Given the description of an element on the screen output the (x, y) to click on. 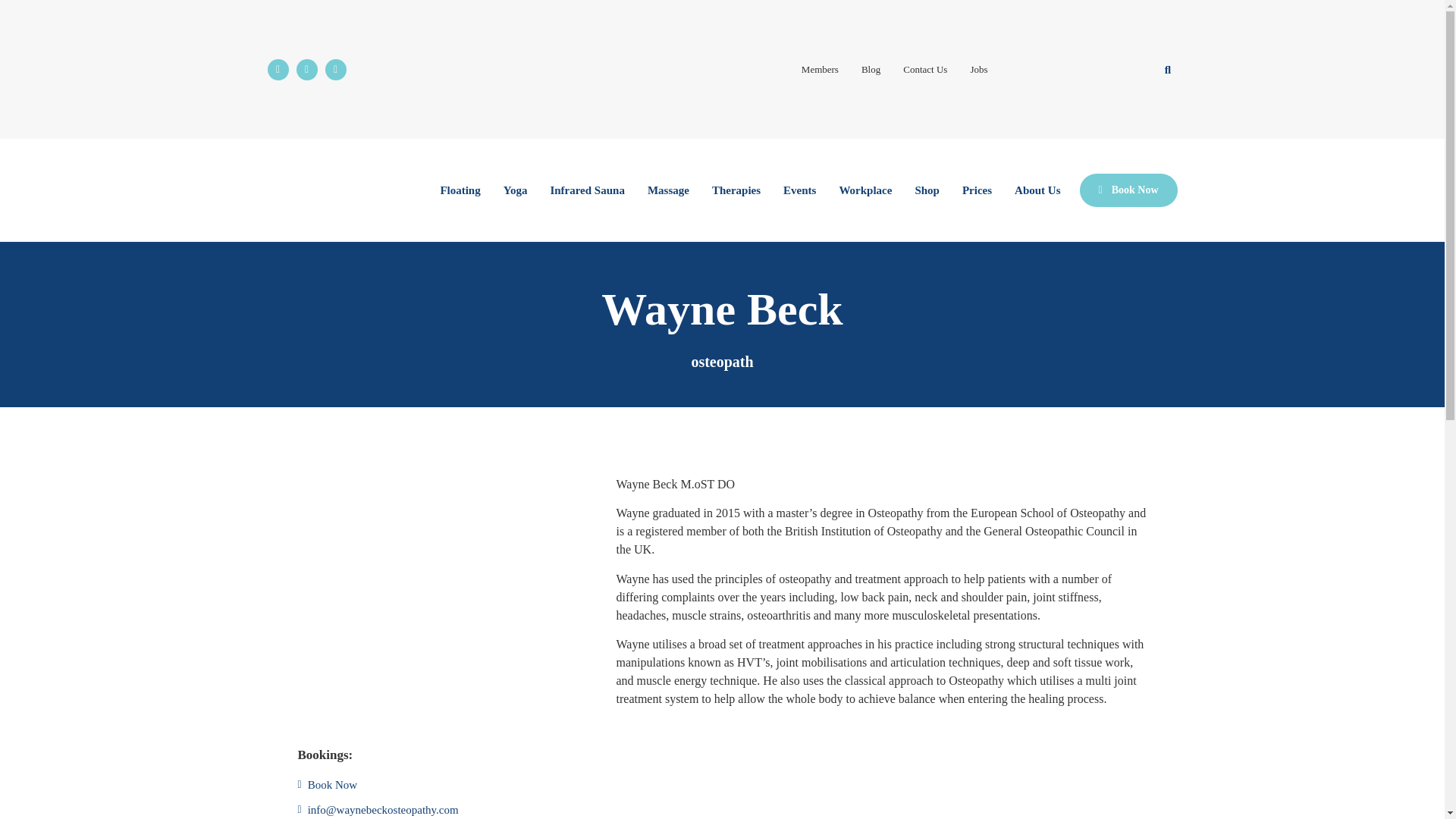
Members (820, 68)
Floating (460, 189)
Jobs (978, 68)
Yoga (515, 189)
Blog (870, 68)
Contact Us (924, 68)
